Given the description of an element on the screen output the (x, y) to click on. 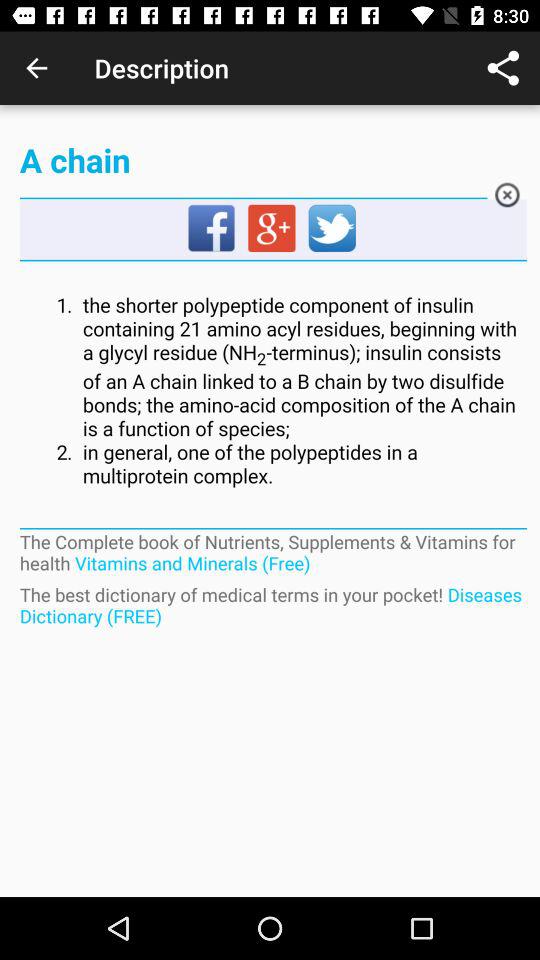
x 's out of sharing options (506, 197)
